Given the description of an element on the screen output the (x, y) to click on. 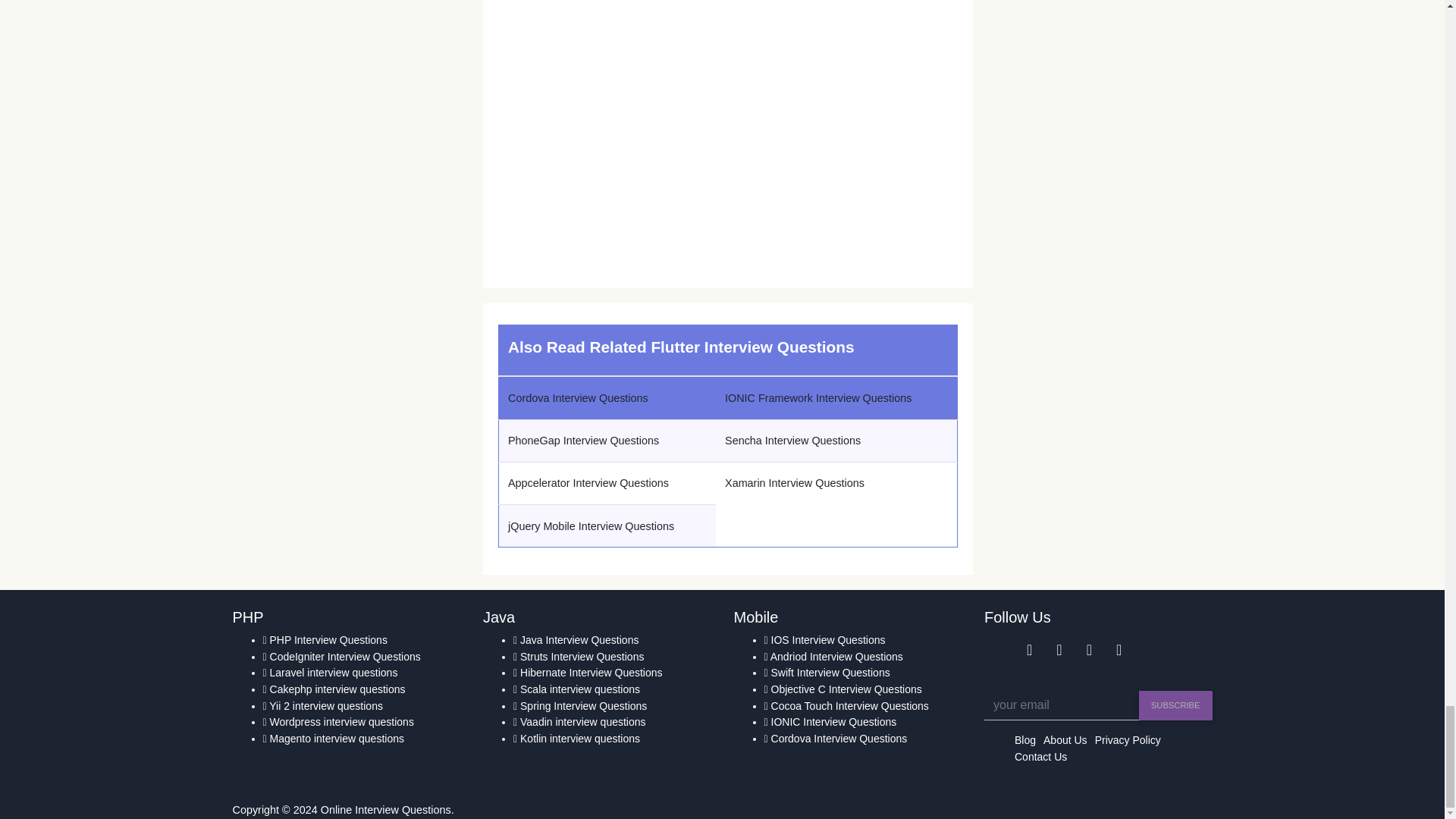
Xamarin Interview Questions (794, 482)
Cordova Interview Questions (577, 398)
PhoneGap Interview Questions (583, 440)
Online Interview Questions (387, 809)
Sencha Interview Questions (792, 440)
Appcelerator Interview Questions (588, 482)
IONIC Framework Interview Questions (818, 398)
jQuery Mobile Interview Questions (591, 526)
